Given the description of an element on the screen output the (x, y) to click on. 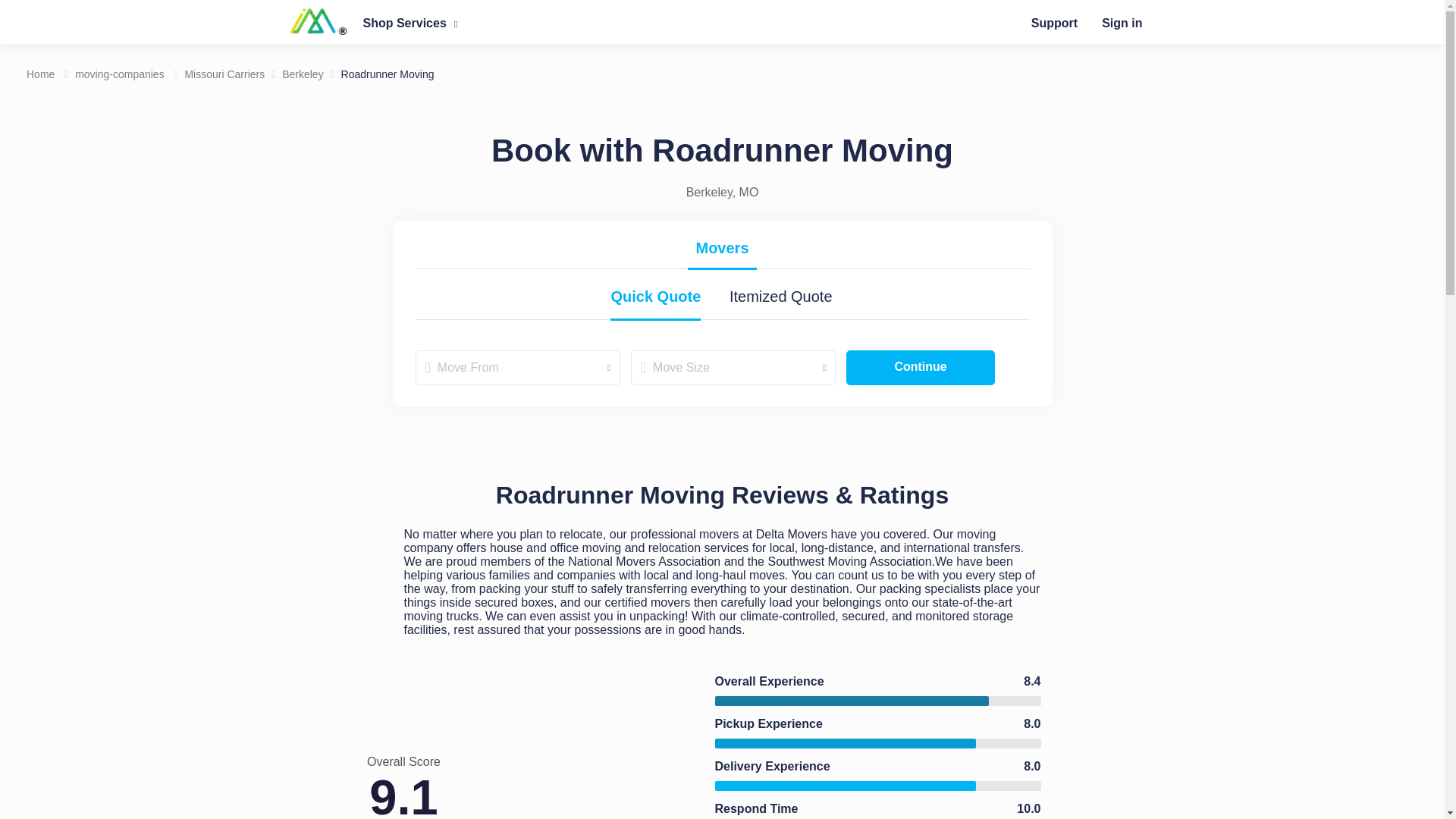
Move From (517, 367)
Support (1054, 23)
Move Size (732, 367)
Shop Services (409, 23)
Quick Quote (654, 298)
Continue (919, 367)
Itemized Quote (780, 298)
Sign in (1121, 23)
moving-companies (119, 73)
Berkeley (302, 73)
